Given the description of an element on the screen output the (x, y) to click on. 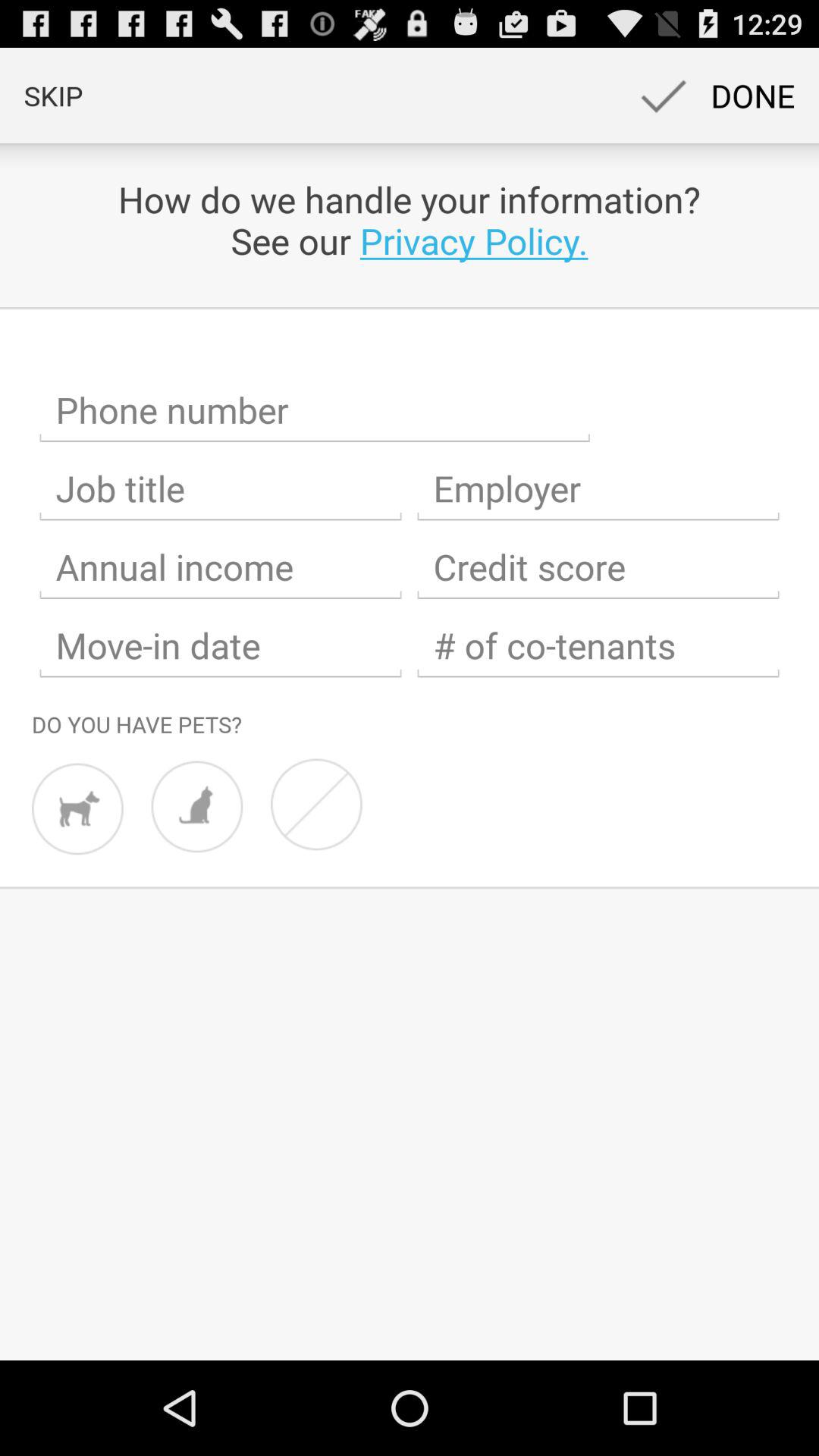
information option (598, 567)
